Given the description of an element on the screen output the (x, y) to click on. 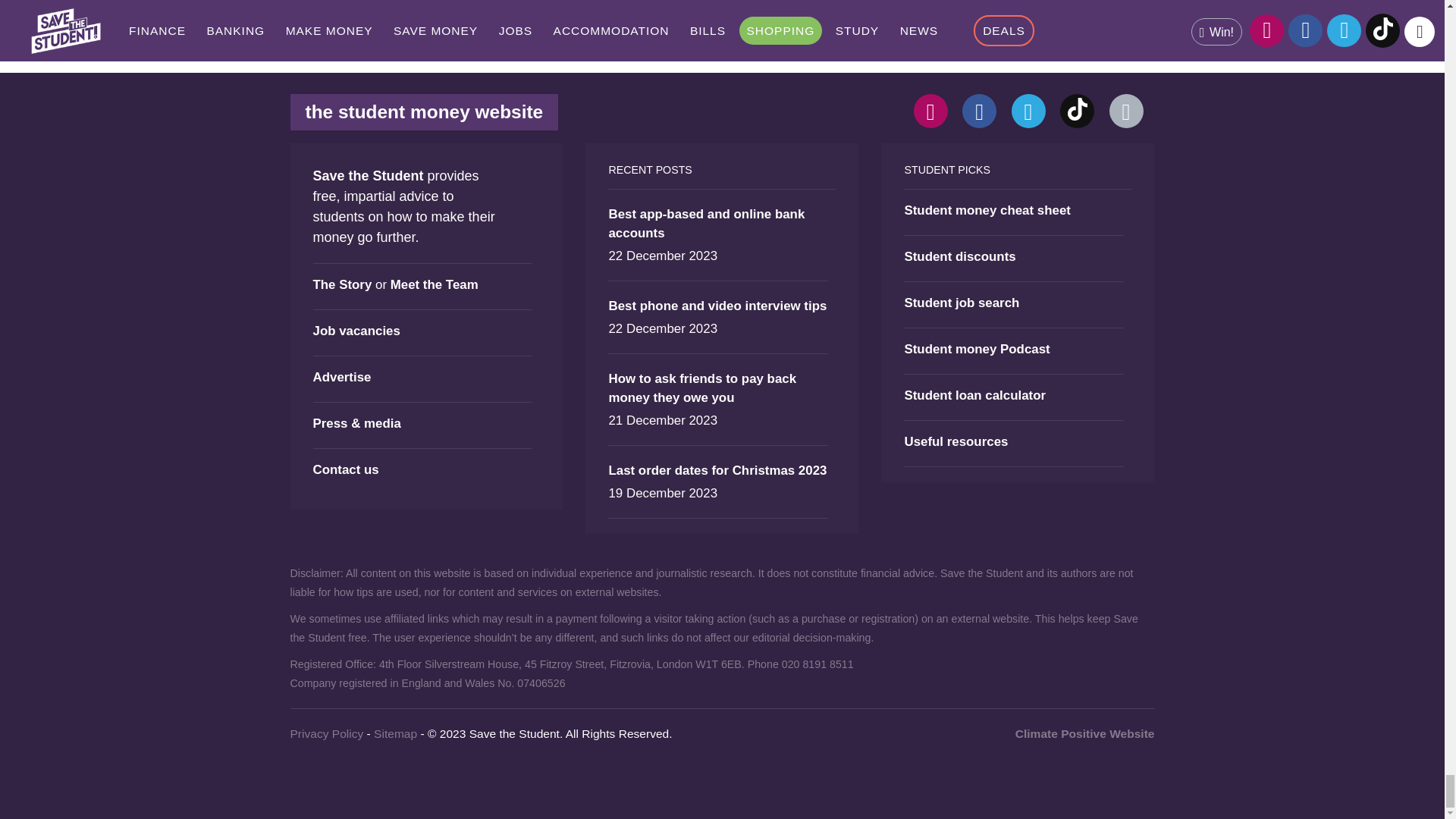
Contact us (1125, 110)
